Given the description of an element on the screen output the (x, y) to click on. 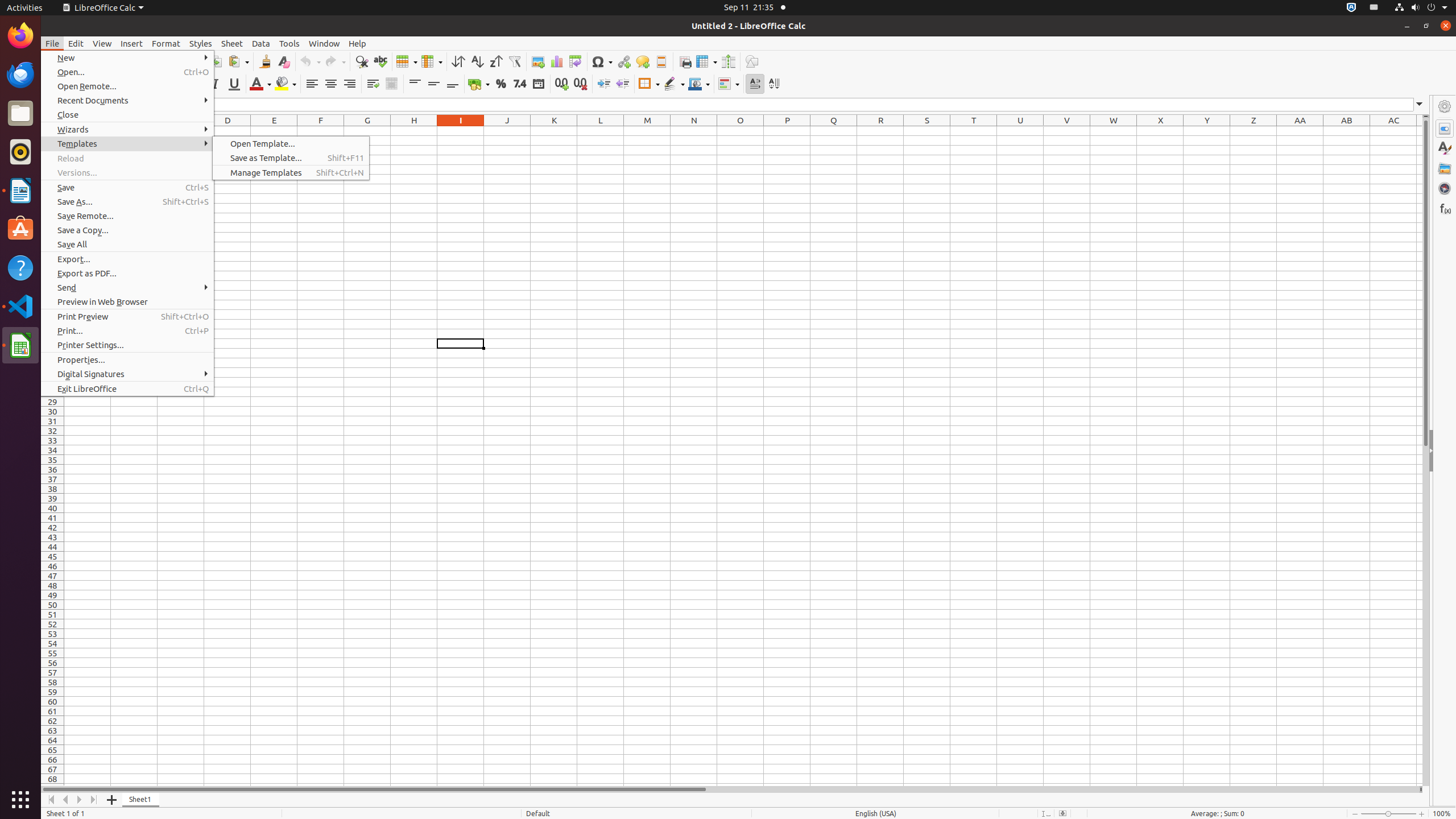
Text direction from top to bottom Element type: toggle-button (773, 83)
Open Template... Element type: menu-item (290, 143)
Save Remote... Element type: menu-item (126, 215)
L1 Element type: table-cell (600, 130)
F1 Element type: table-cell (320, 130)
